Given the description of an element on the screen output the (x, y) to click on. 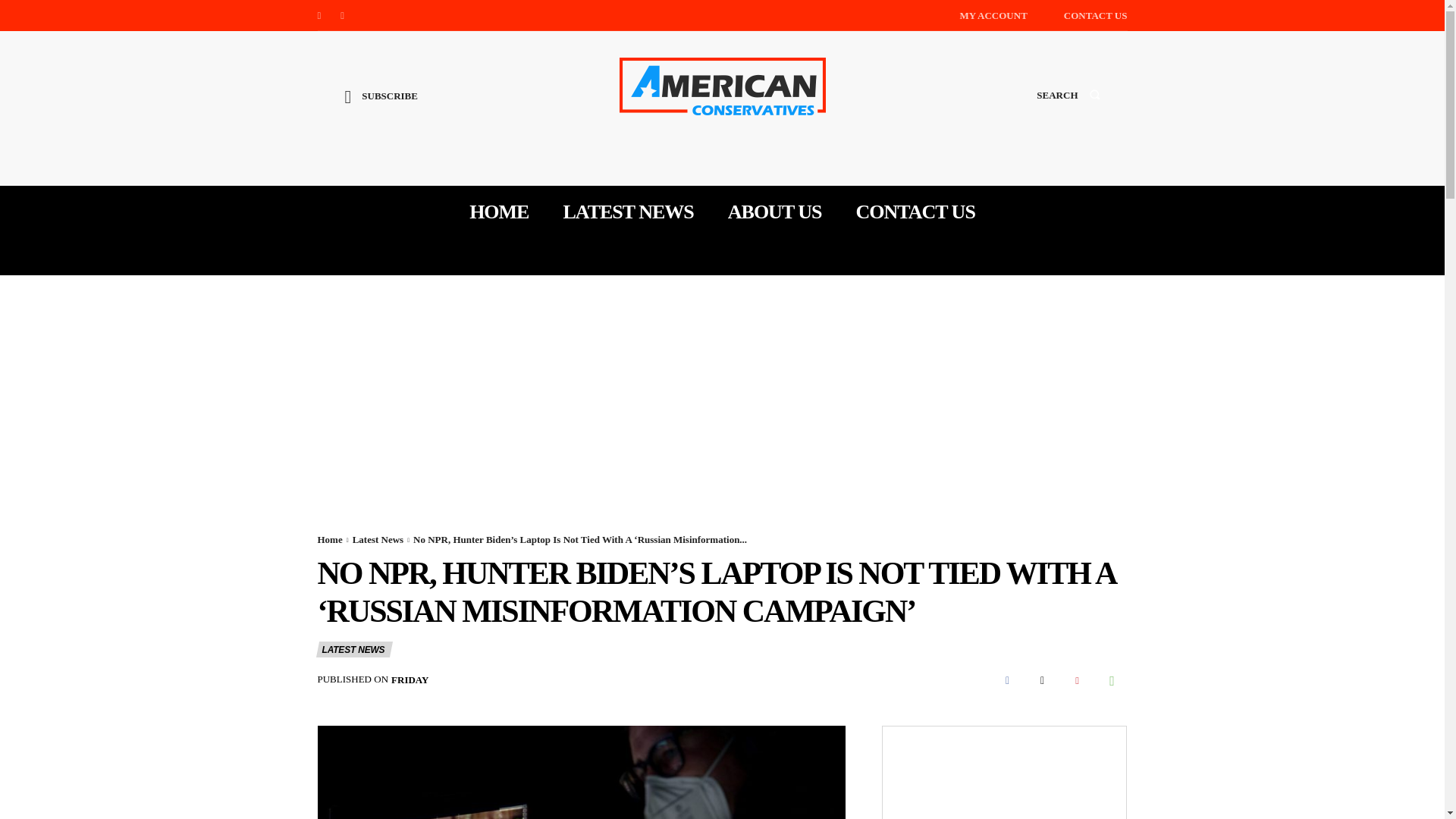
MY ACCOUNT (992, 15)
SEARCH (1067, 109)
ABOUT US (775, 212)
CONTACT US (1095, 15)
SUBSCRIBE (380, 107)
Contact Us (1095, 15)
LATEST NEWS (353, 649)
LATEST NEWS (627, 212)
Twitter (342, 15)
Home (329, 539)
CONTACT US (915, 212)
Facebook (318, 15)
Latest News (378, 539)
My Account (992, 15)
Subscribe (380, 107)
